Given the description of an element on the screen output the (x, y) to click on. 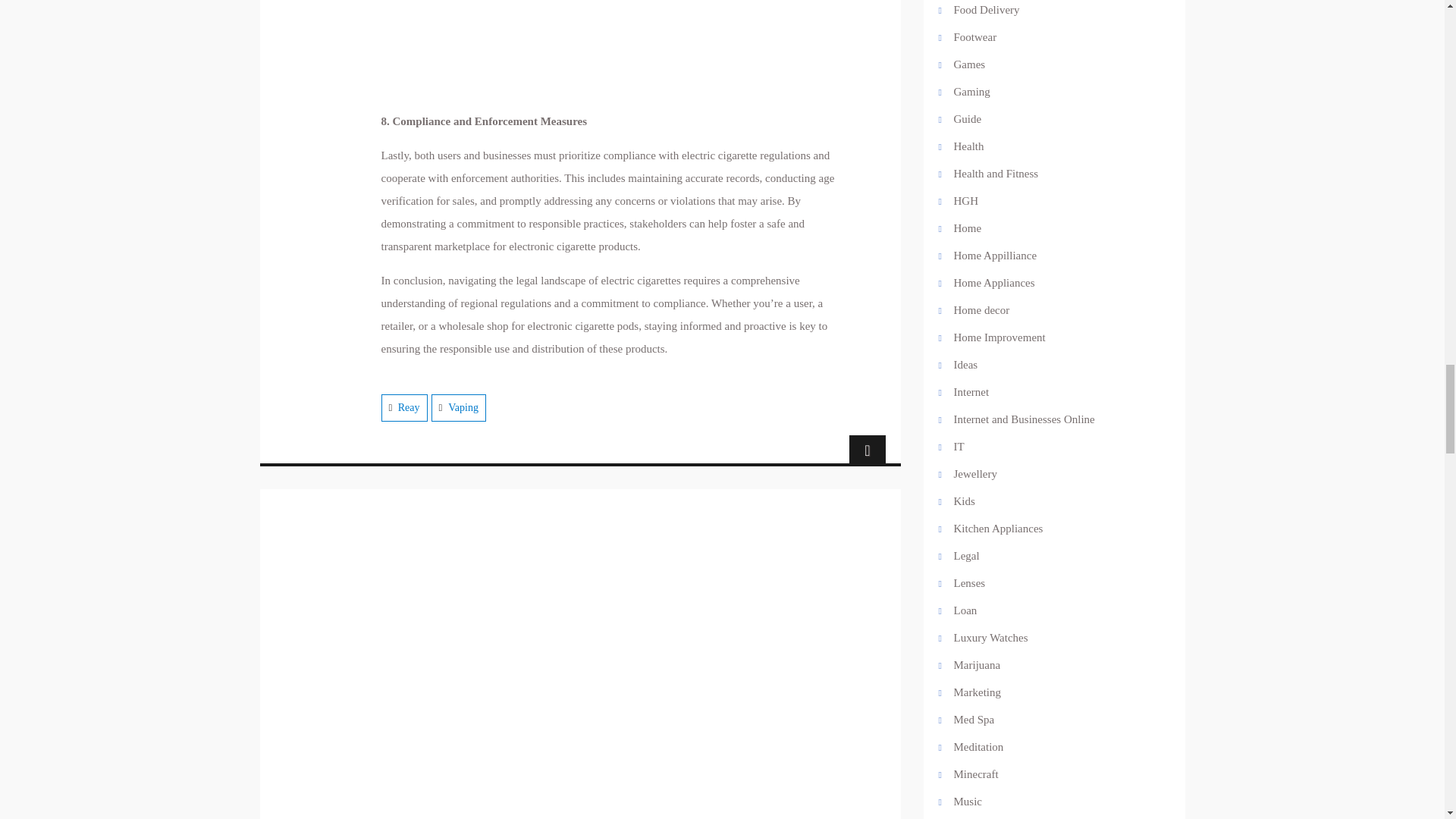
Vaping (463, 407)
Reay (408, 407)
